Given the description of an element on the screen output the (x, y) to click on. 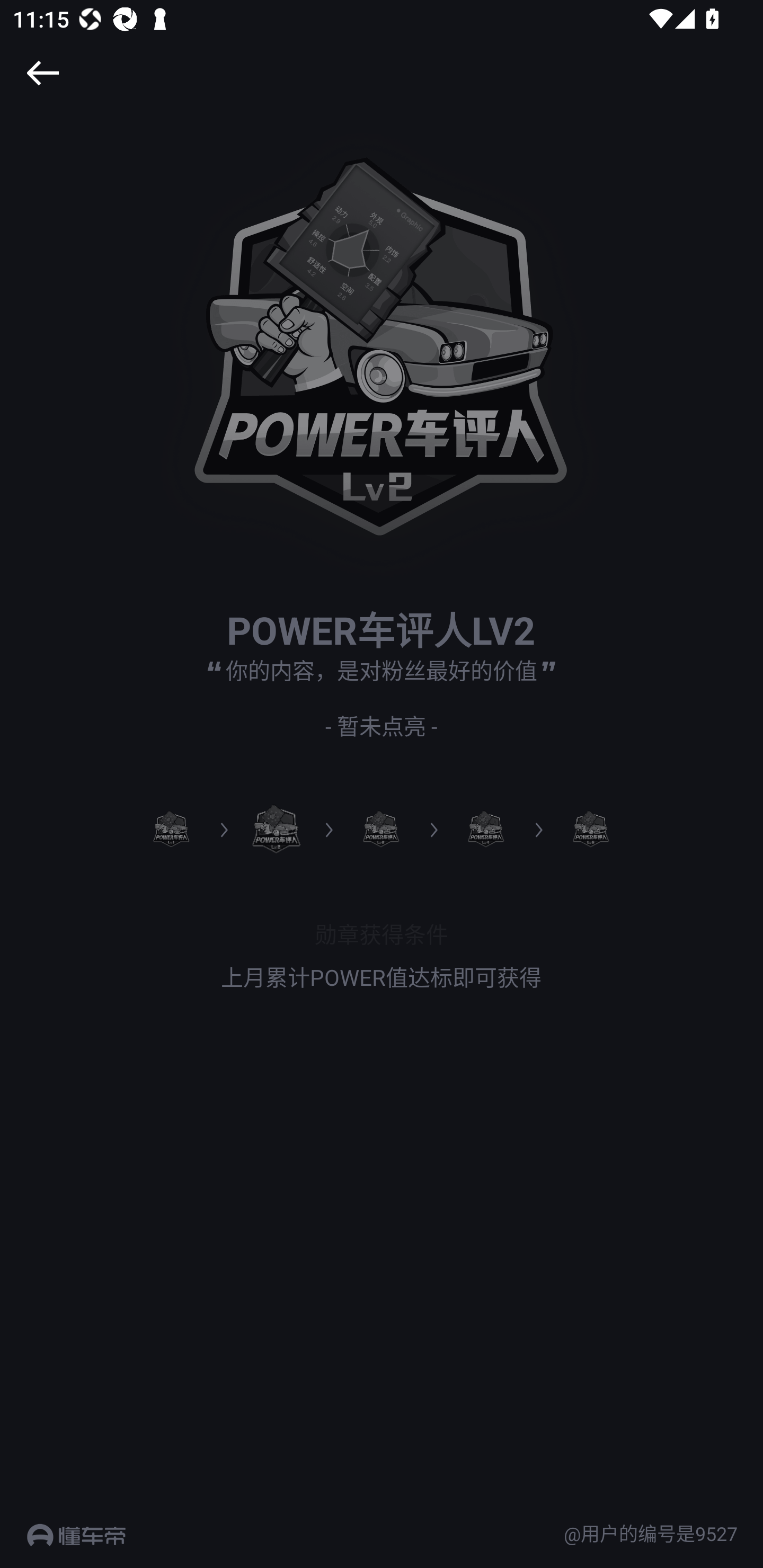
 (42, 72)
勋章获得条件 (381, 933)
上月累计POWER值达标即可获得 (381, 977)
